Given the description of an element on the screen output the (x, y) to click on. 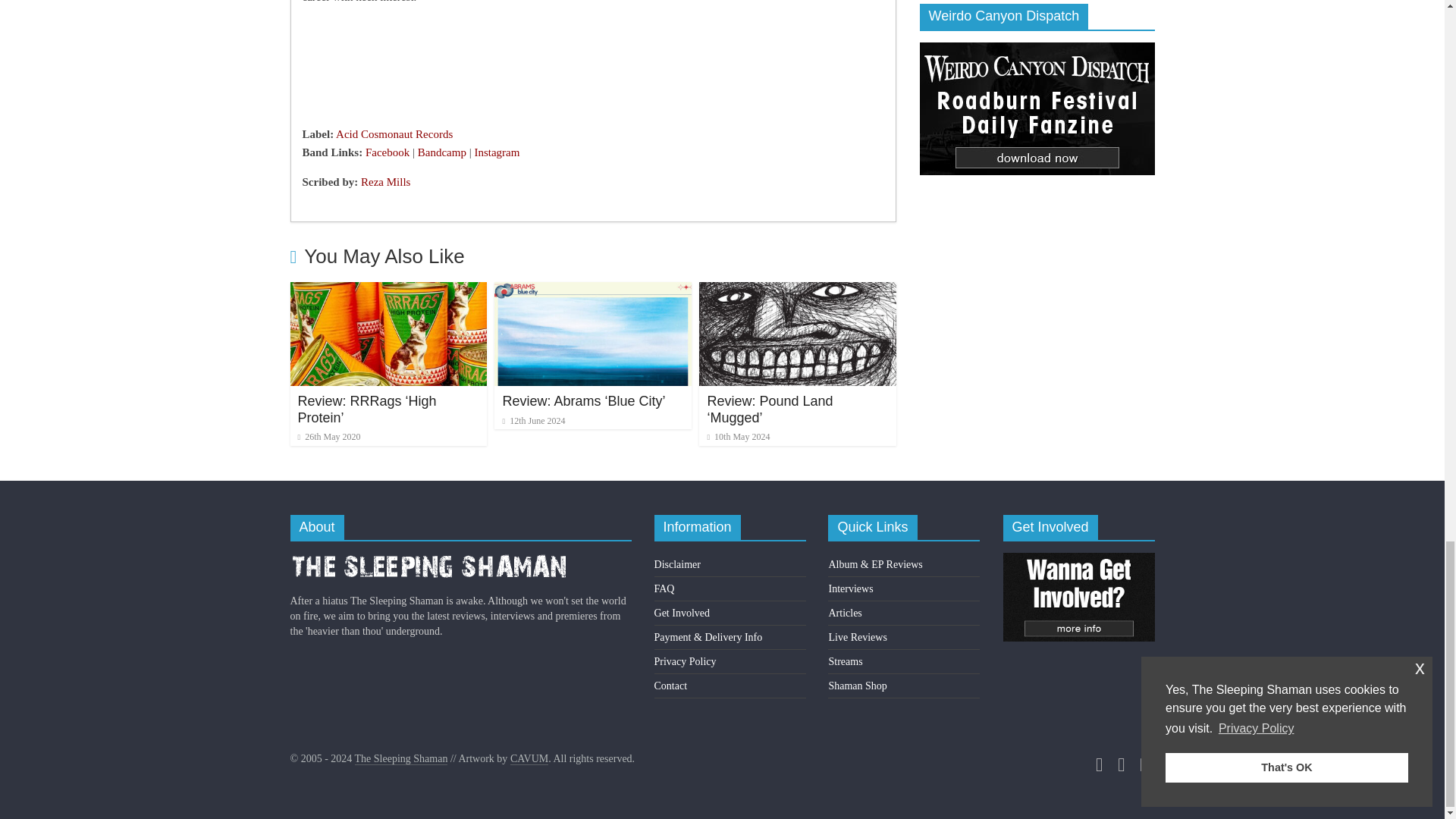
12:00 pm (328, 436)
